Given the description of an element on the screen output the (x, y) to click on. 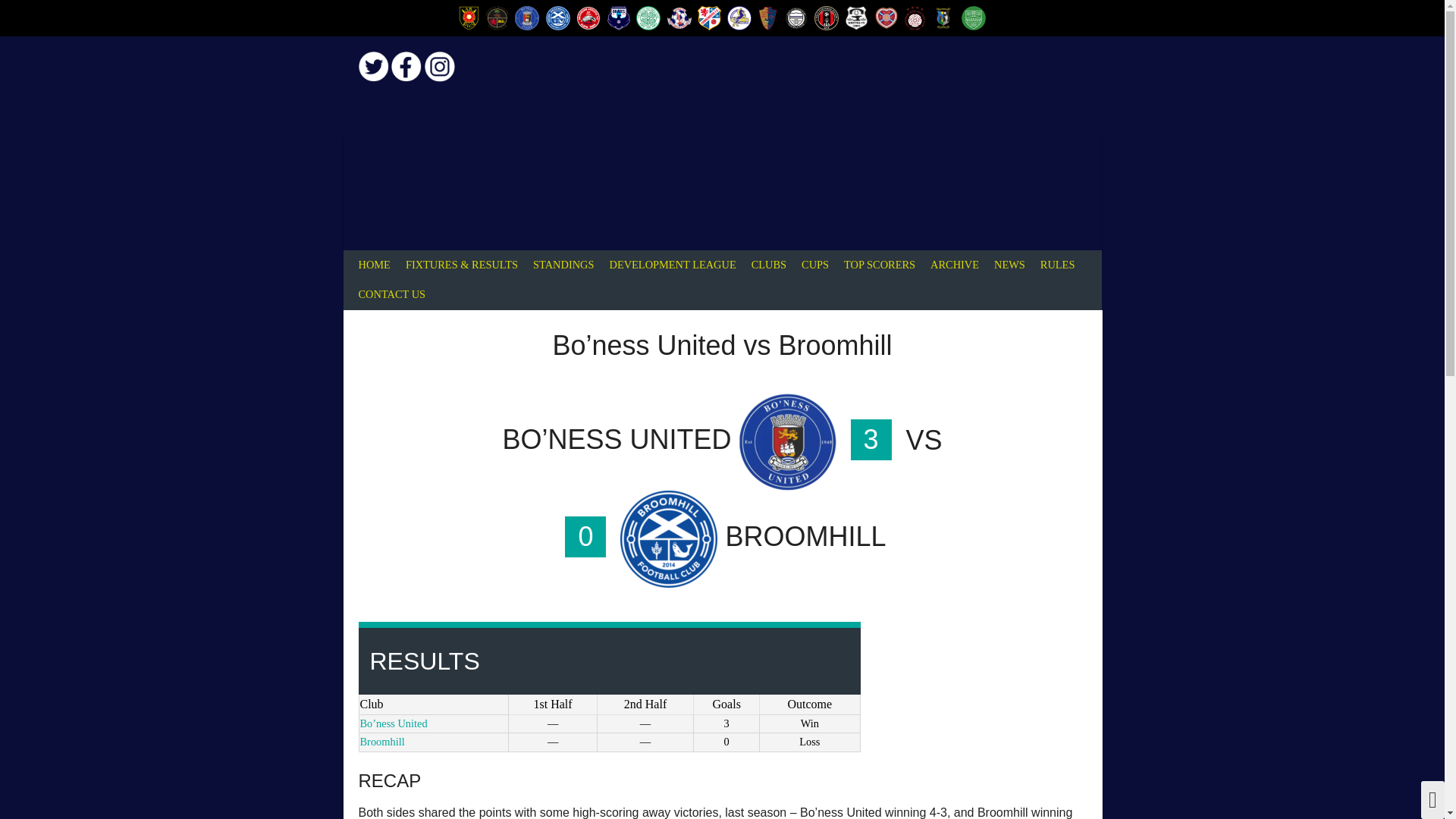
DEVELOPMENT LEAGUE (671, 265)
East Stirlingshire (796, 17)
Albion Rovers (468, 17)
Civil Service Strollers (678, 17)
Broxburn Athletic (587, 17)
HOME (373, 265)
STANDINGS (563, 265)
CLUBS (768, 265)
Cowdenbeath (708, 17)
Caledonian Braves (618, 17)
Cumbernauld Colts (738, 17)
Broomhill (558, 17)
Gala Fairydean Rovers (825, 17)
Gretna 2008 (856, 17)
Berwick Rangers (496, 17)
